Given the description of an element on the screen output the (x, y) to click on. 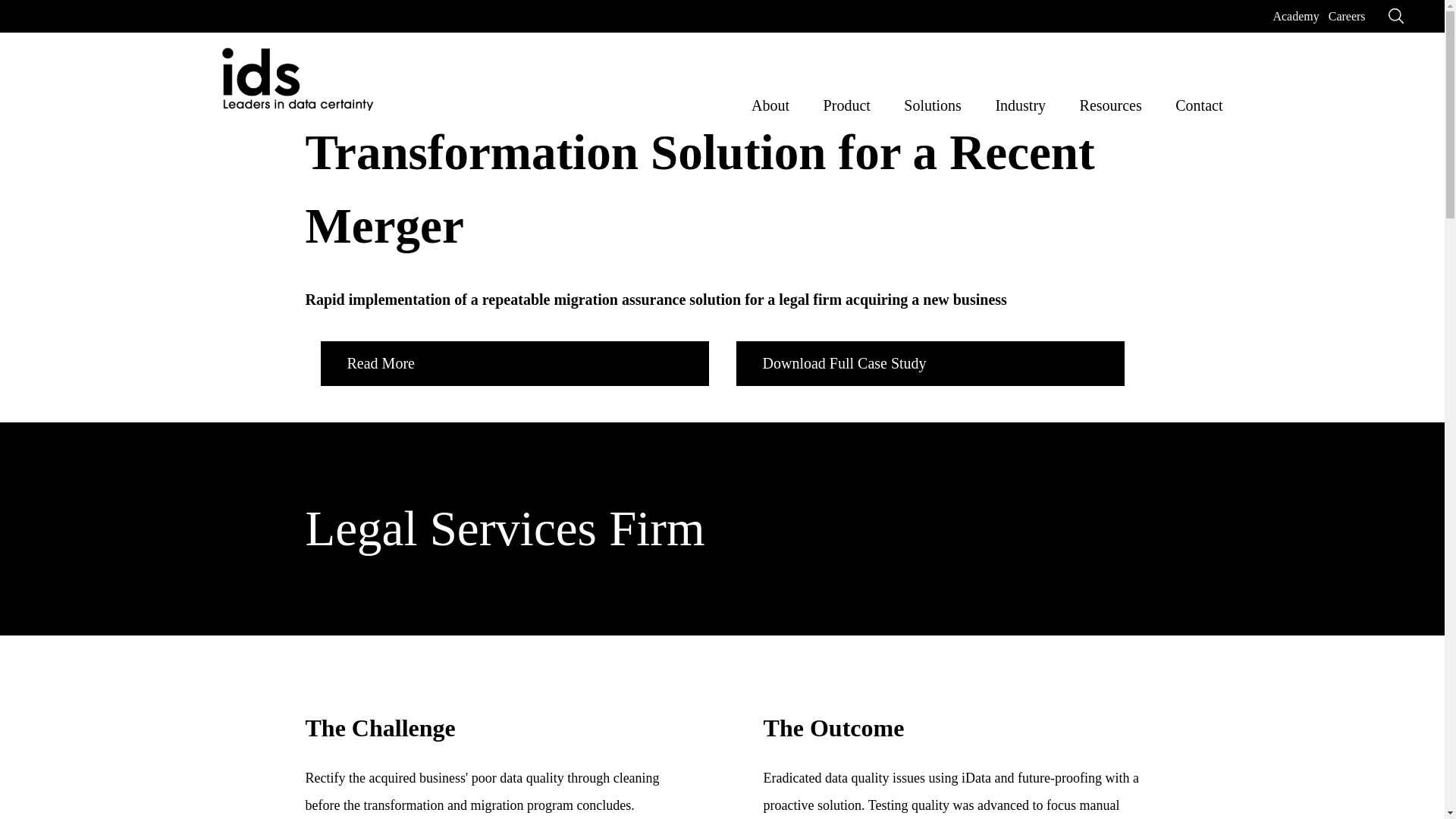
Industry (1019, 101)
Academy (1295, 15)
Contact (1198, 101)
Resources (1110, 101)
About (770, 101)
Careers (1346, 15)
Solutions (932, 101)
Download Full Case Study (929, 363)
Read More (513, 363)
Product (847, 101)
